Given the description of an element on the screen output the (x, y) to click on. 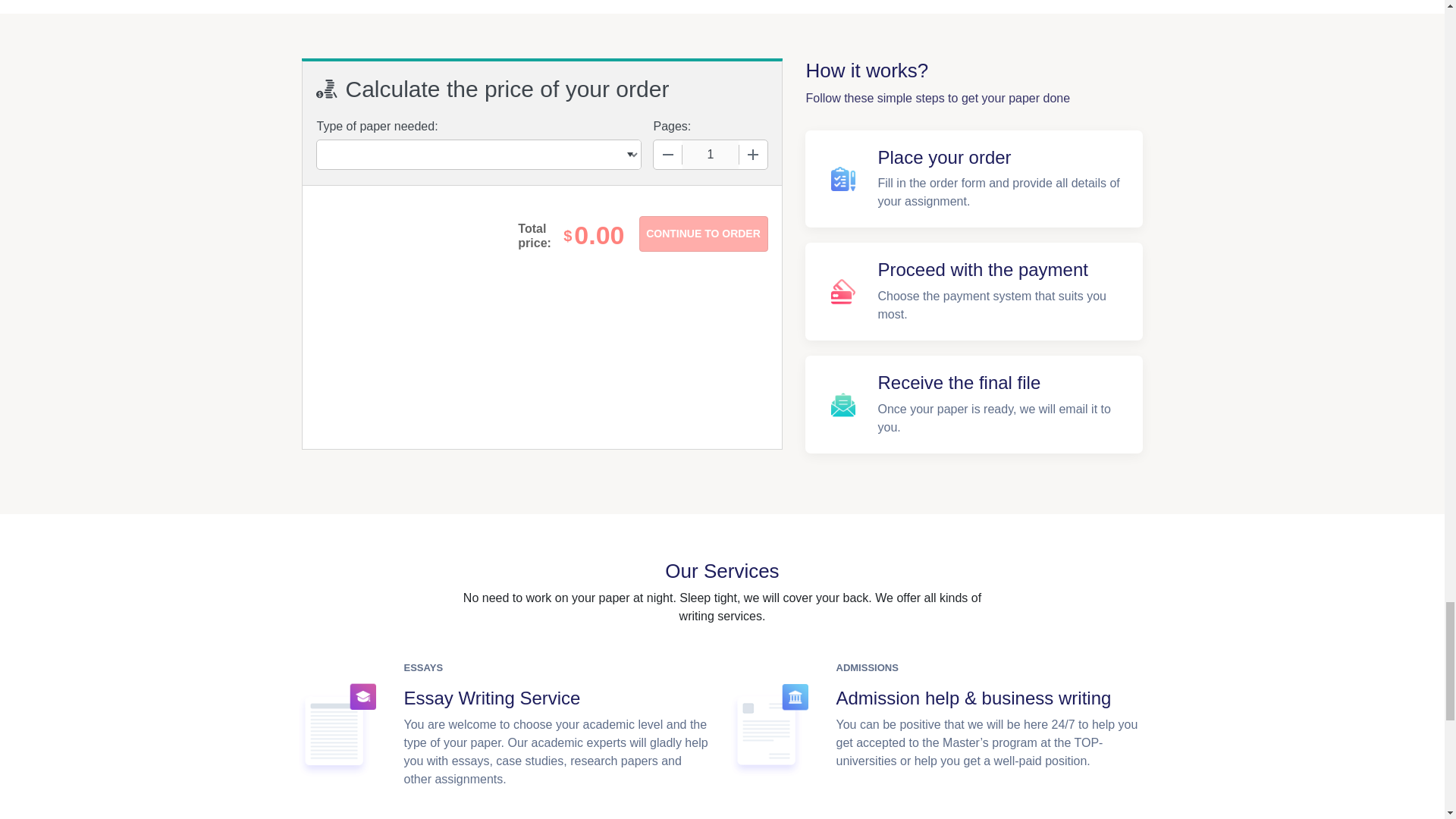
1 (710, 154)
Continue to Order (703, 233)
Increase (752, 154)
Continue to order (703, 233)
Decrease (667, 154)
Continue to order (703, 233)
